Given the description of an element on the screen output the (x, y) to click on. 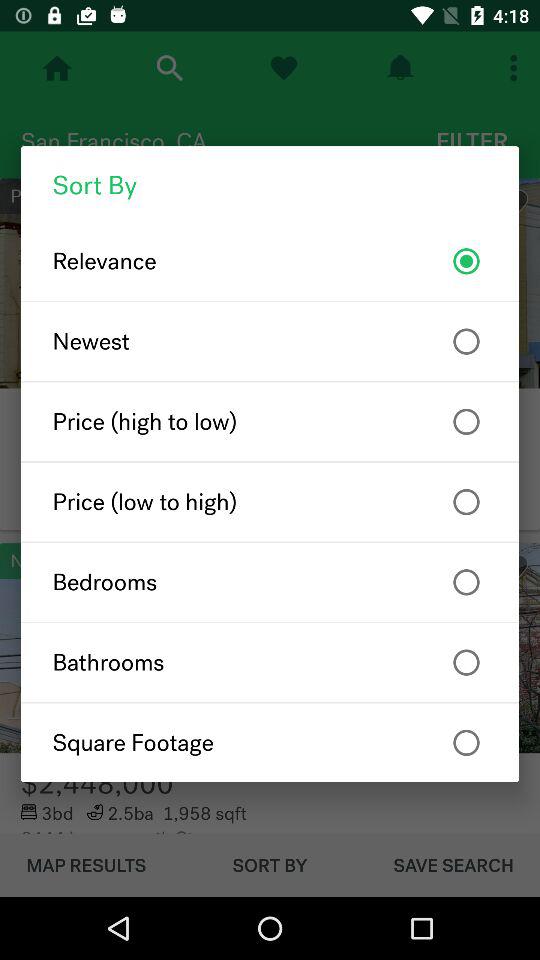
select icon below relevance item (270, 341)
